Given the description of an element on the screen output the (x, y) to click on. 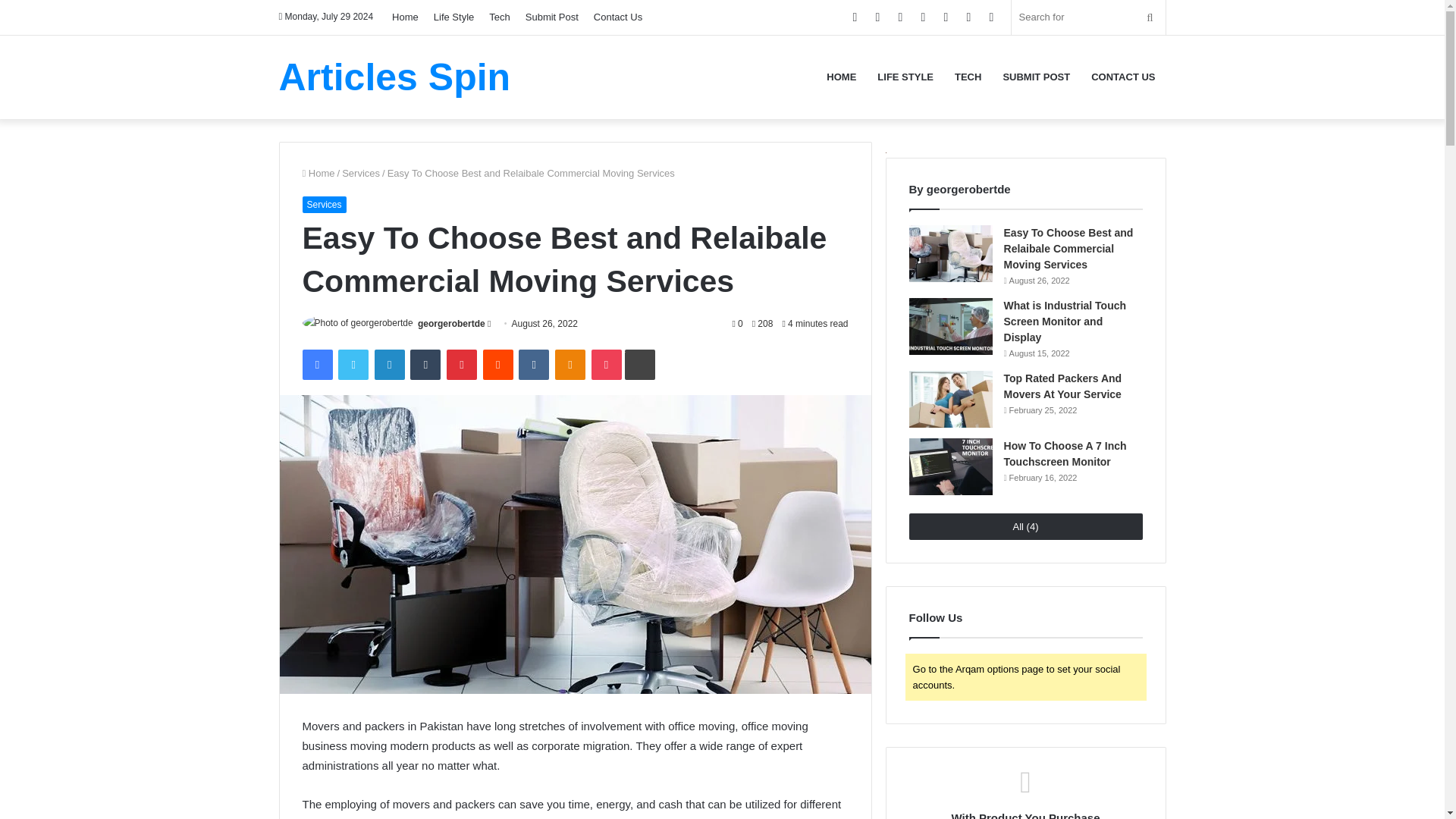
Pinterest (461, 364)
Articles Spin (395, 76)
Home (317, 172)
Contact Us (617, 17)
Facebook (316, 364)
SUBMIT POST (1035, 76)
VKontakte (533, 364)
Twitter (352, 364)
Services (361, 172)
Twitter (352, 364)
georgerobertde (450, 323)
Pocket (606, 364)
LinkedIn (389, 364)
Reddit (498, 364)
CONTACT US (1123, 76)
